Given the description of an element on the screen output the (x, y) to click on. 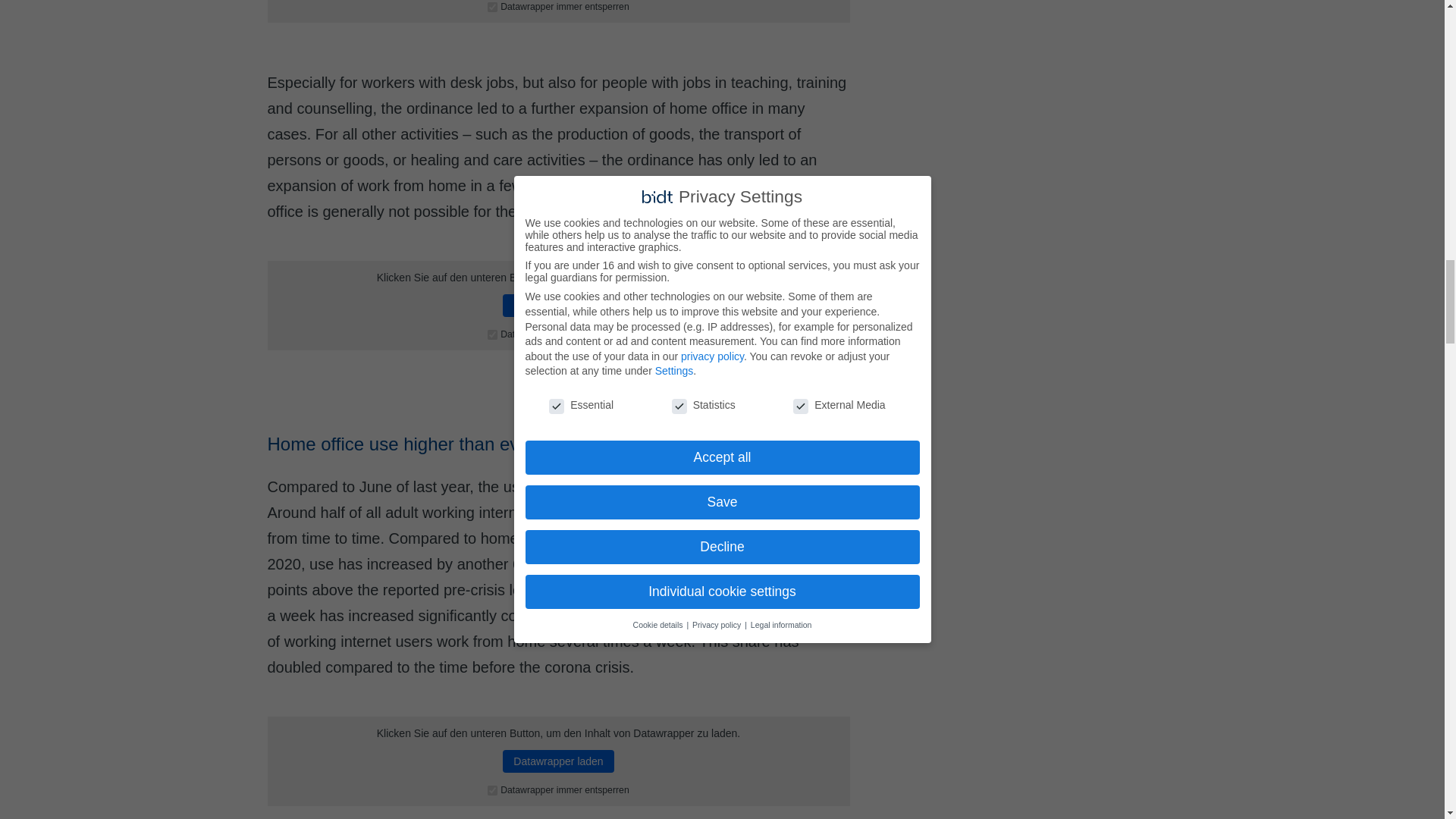
1 (492, 790)
1 (492, 7)
1 (492, 334)
